Given the description of an element on the screen output the (x, y) to click on. 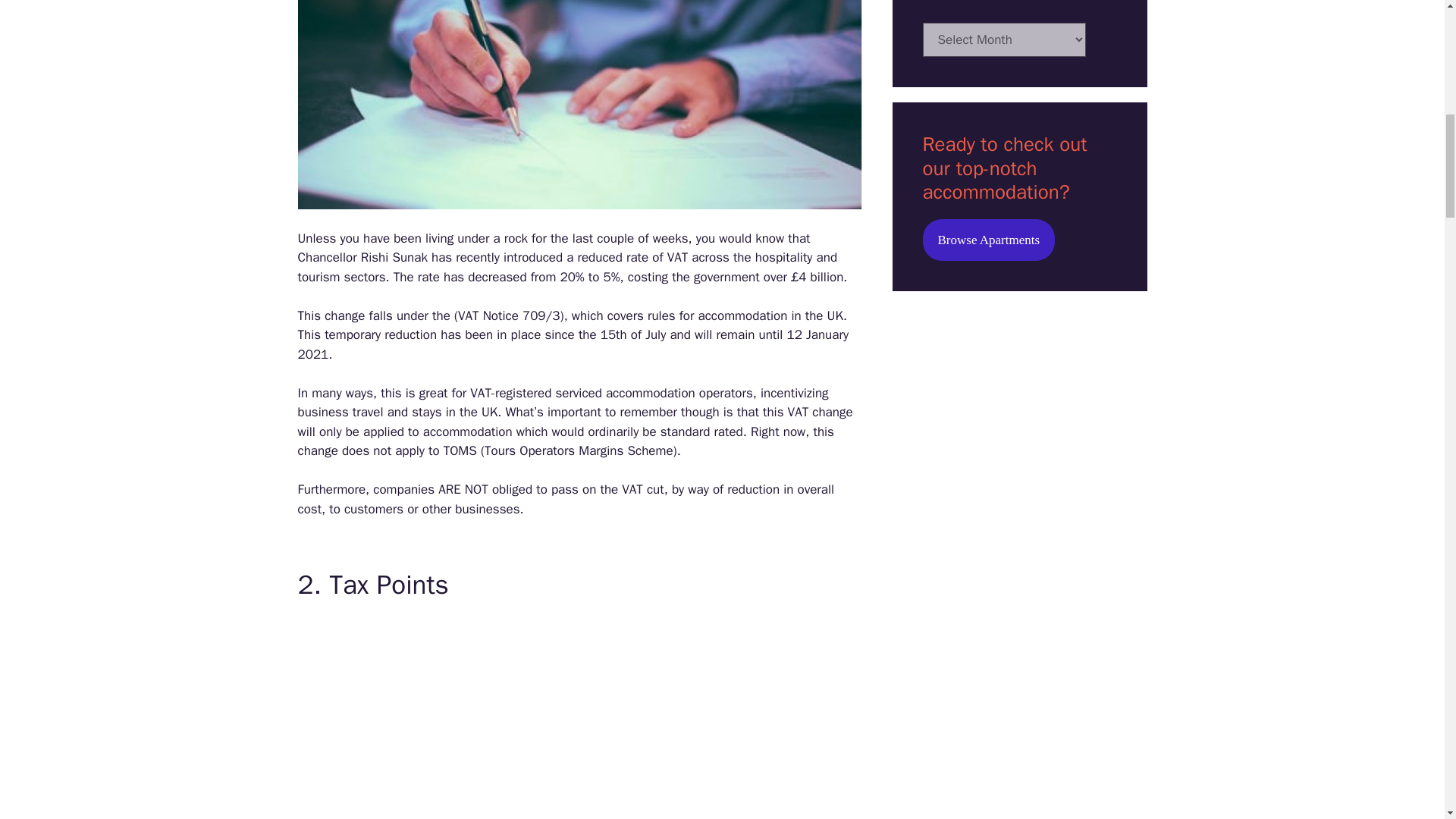
Browse Apartments (987, 240)
